Given the description of an element on the screen output the (x, y) to click on. 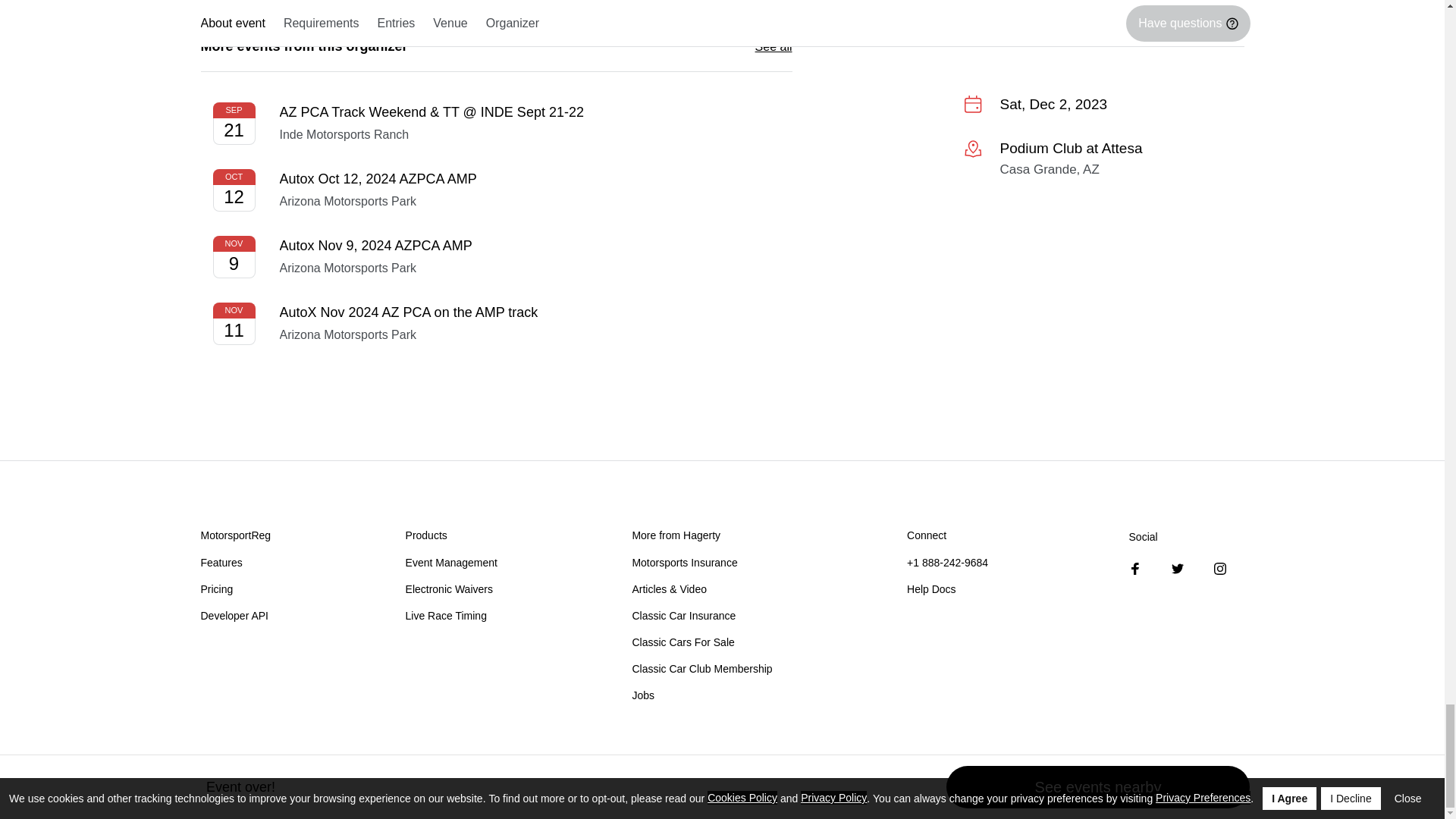
Facebook (1135, 568)
Twitter (1177, 568)
Instagram (1219, 568)
